Given the description of an element on the screen output the (x, y) to click on. 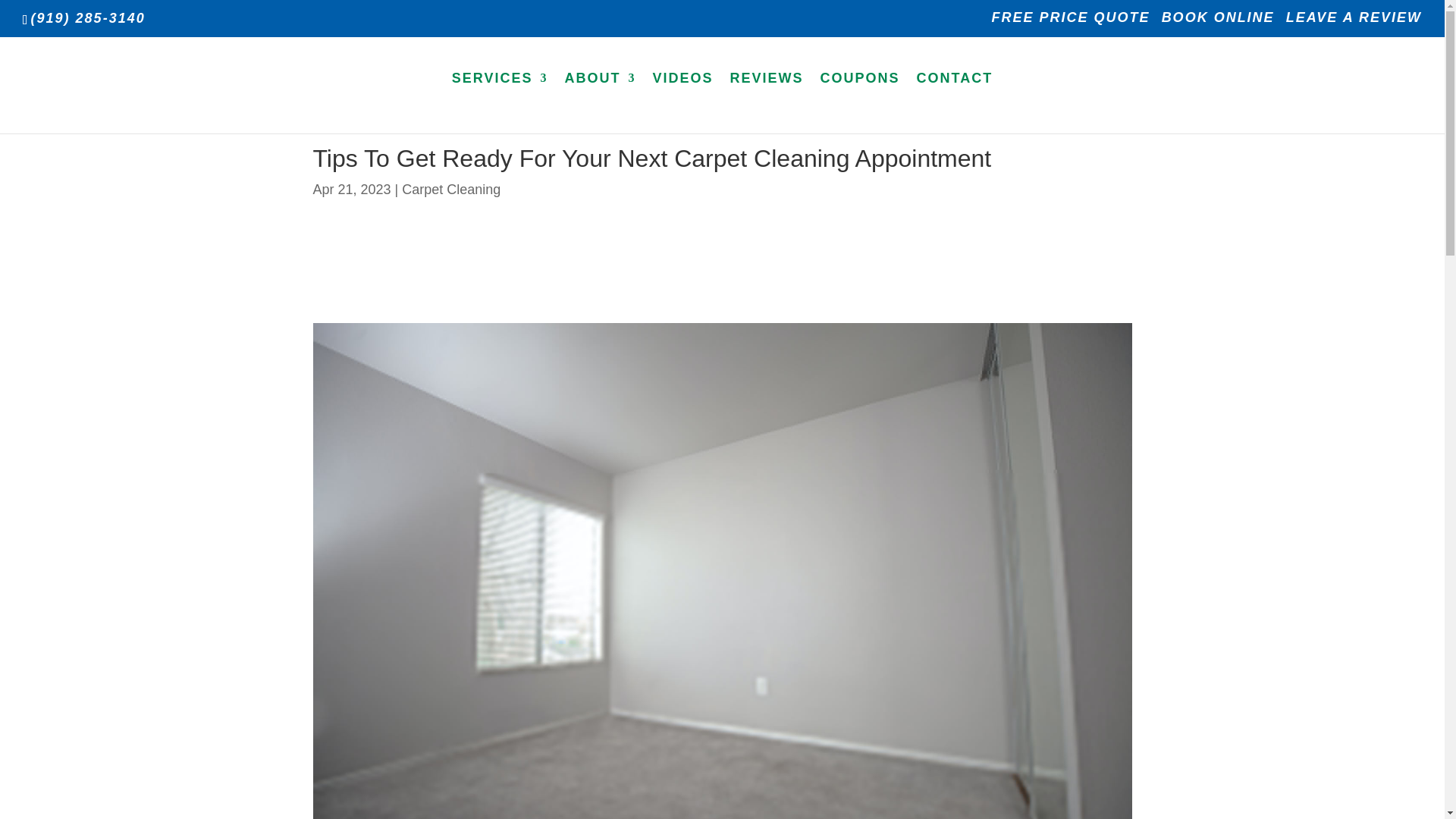
SERVICES (499, 102)
REVIEWS (766, 102)
FREE PRICE QUOTE (1070, 22)
VIDEOS (682, 102)
Carpet Cleaning (450, 189)
Carpet Cleaning Coupons (860, 102)
LEAVE A REVIEW (1353, 22)
CONTACT (954, 102)
Customer Reviews (766, 102)
BOOK ONLINE (1218, 22)
COUPONS (860, 102)
Contact Us (954, 102)
ABOUT (599, 102)
